Given the description of an element on the screen output the (x, y) to click on. 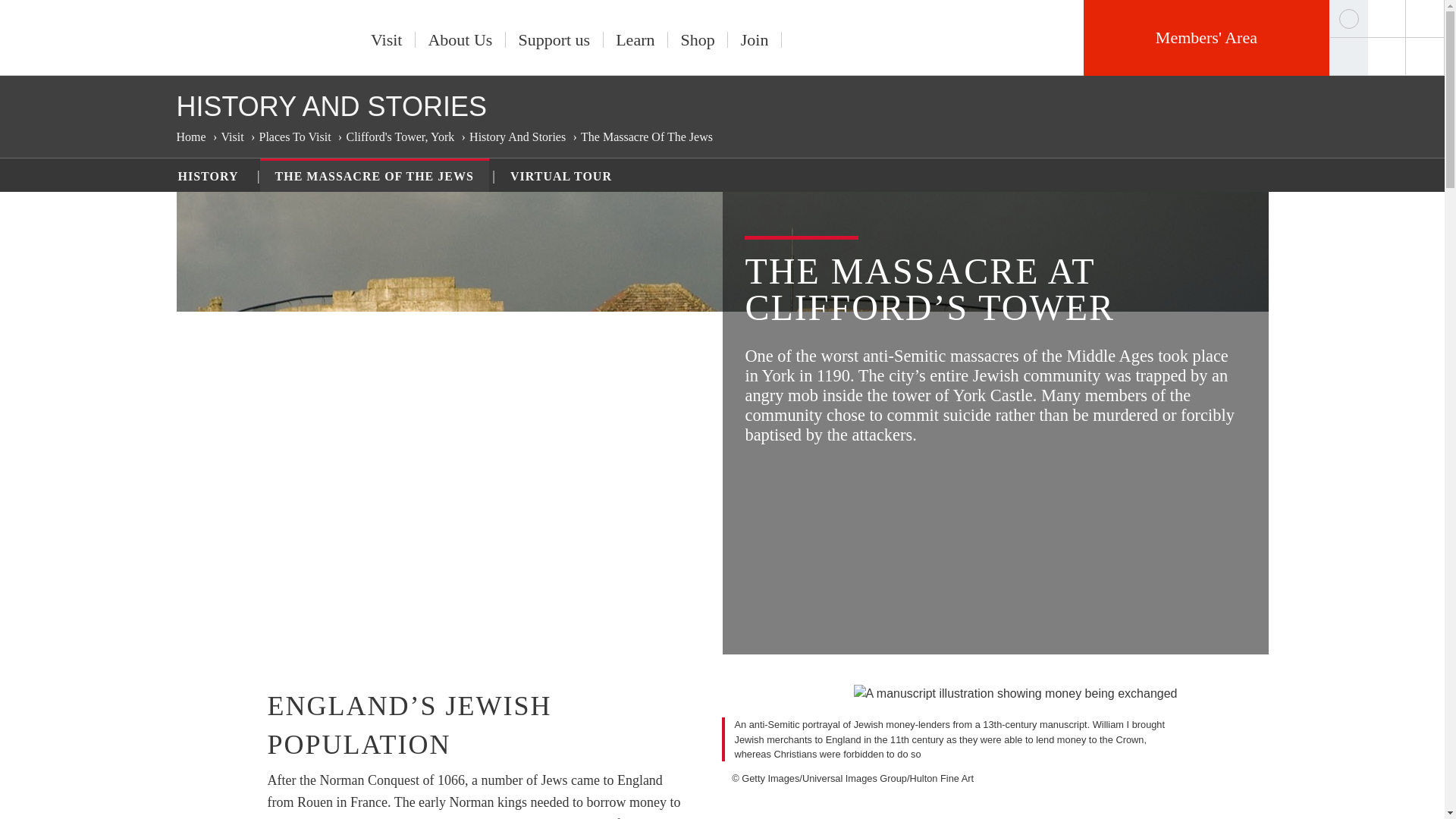
ENGLISH HERITAGE (245, 33)
Visit (386, 39)
A manuscript illustration showing money being exchanged (1015, 693)
